Given the description of an element on the screen output the (x, y) to click on. 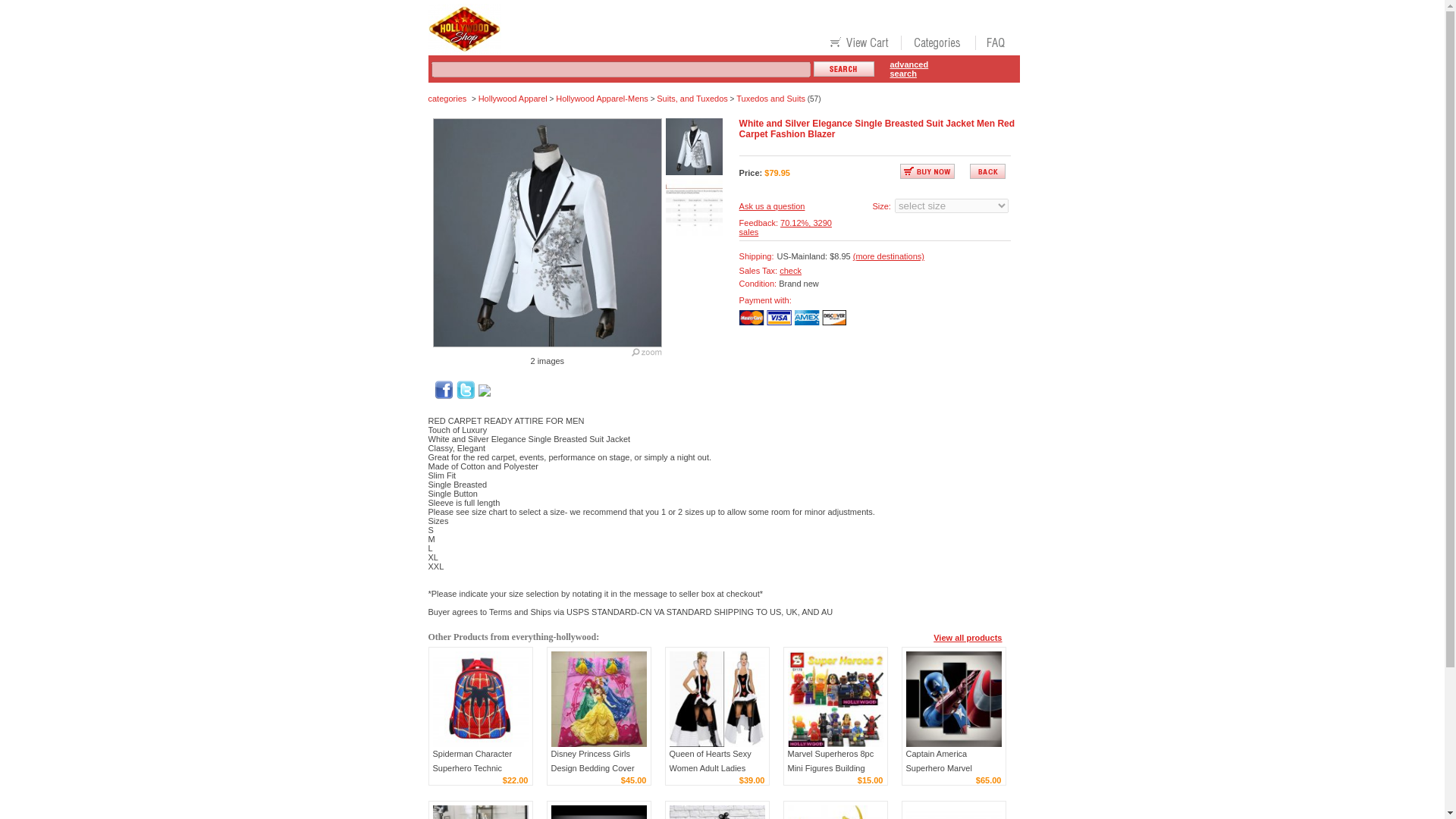
Hollywood Apparel (513, 98)
advanced search (908, 68)
check (790, 270)
View all products (967, 636)
Star Wars Movie Yoda Classic Characters blanket throw (479, 812)
categories (446, 98)
Ask us a question (772, 205)
